Given the description of an element on the screen output the (x, y) to click on. 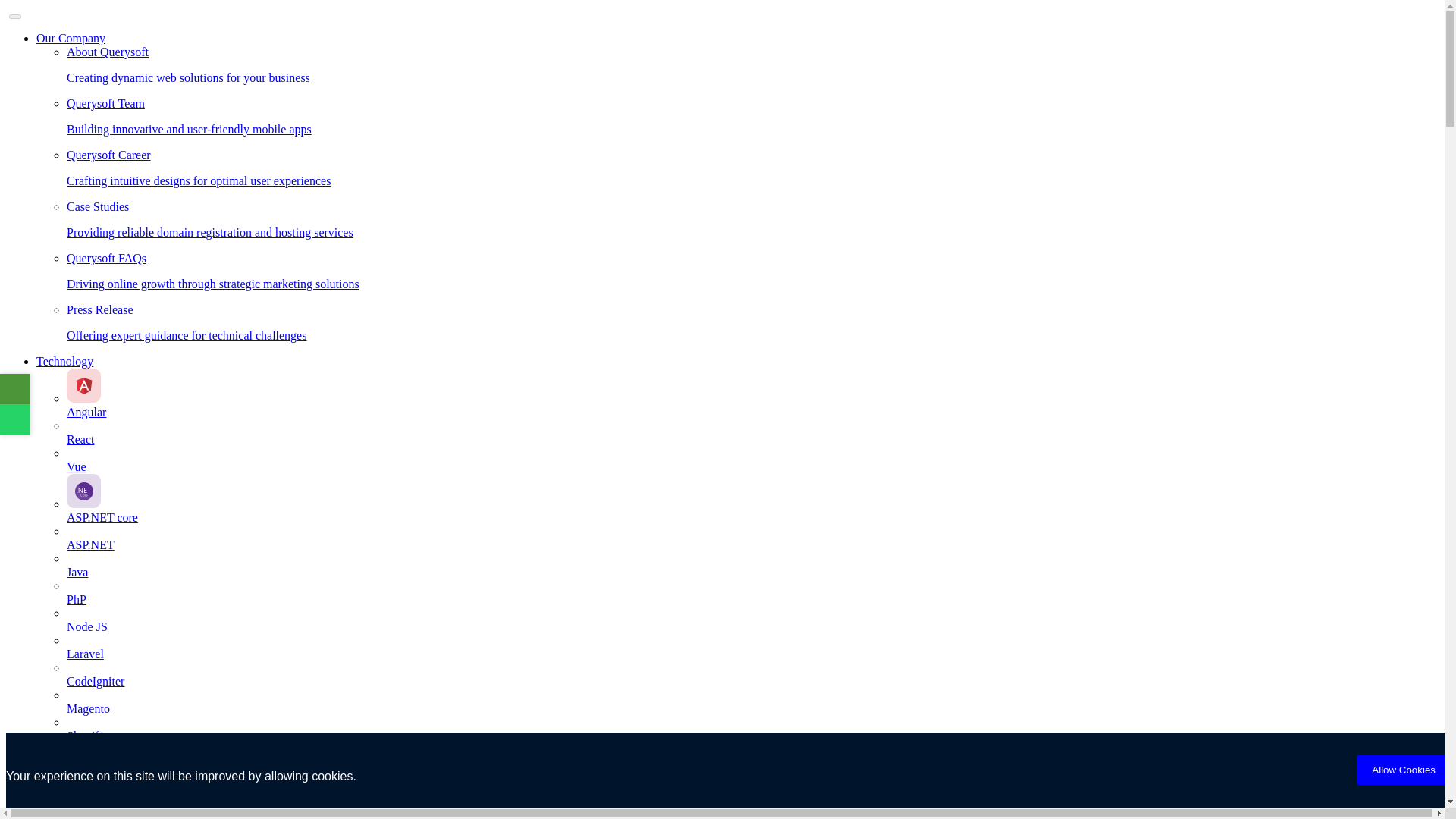
PhP (752, 605)
Magento (752, 715)
Node JS (752, 633)
Laravel (752, 660)
Angular (752, 405)
